Given the description of an element on the screen output the (x, y) to click on. 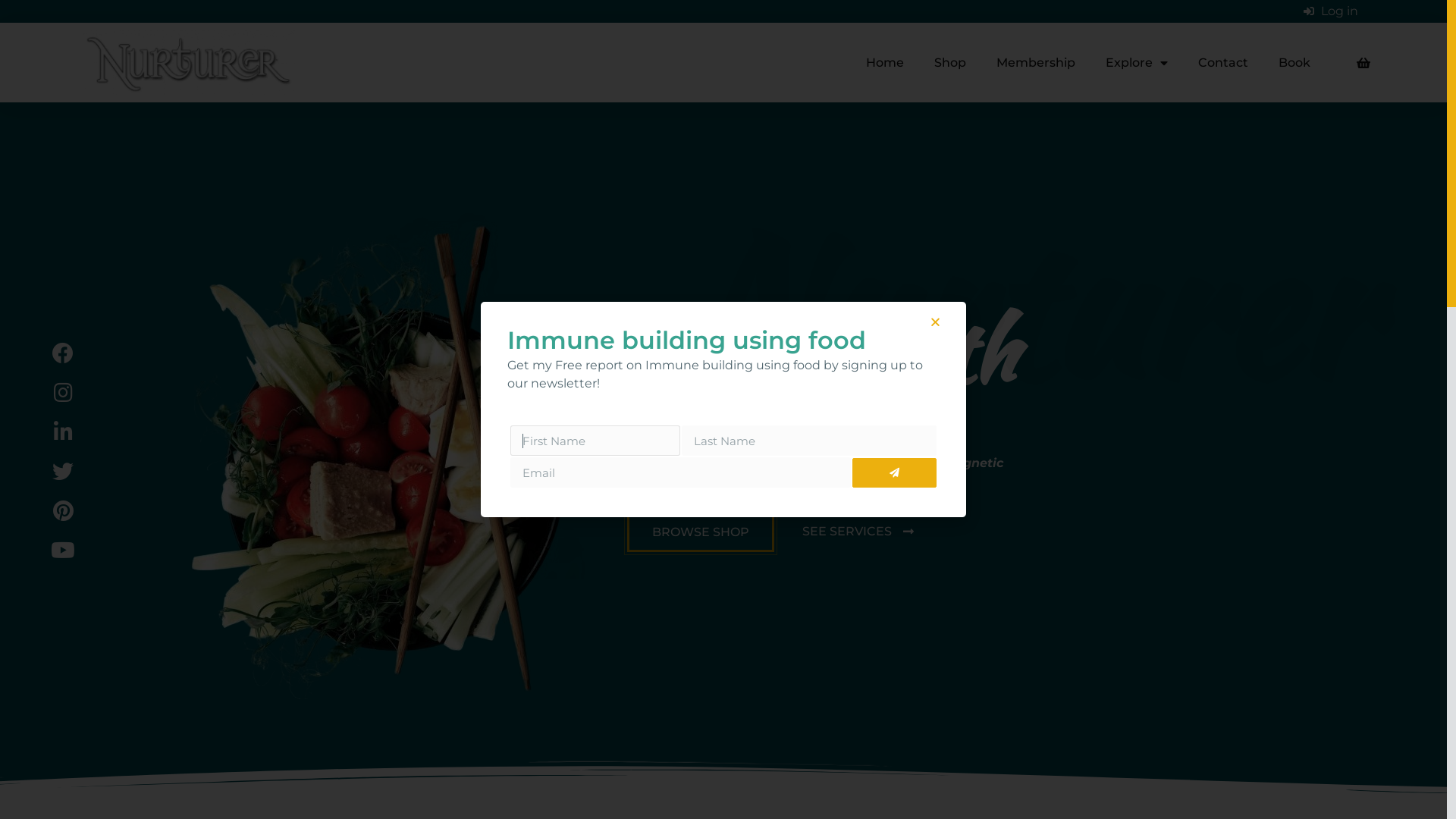
BROWSE SHOP Element type: text (700, 532)
Shop Element type: text (950, 62)
Membership Element type: text (1035, 62)
Home Element type: text (884, 62)
Book Element type: text (1294, 62)
Log in Element type: text (1330, 11)
Explore Element type: text (1136, 62)
Contact Element type: text (1223, 62)
SEE SERVICES Element type: text (857, 531)
